Given the description of an element on the screen output the (x, y) to click on. 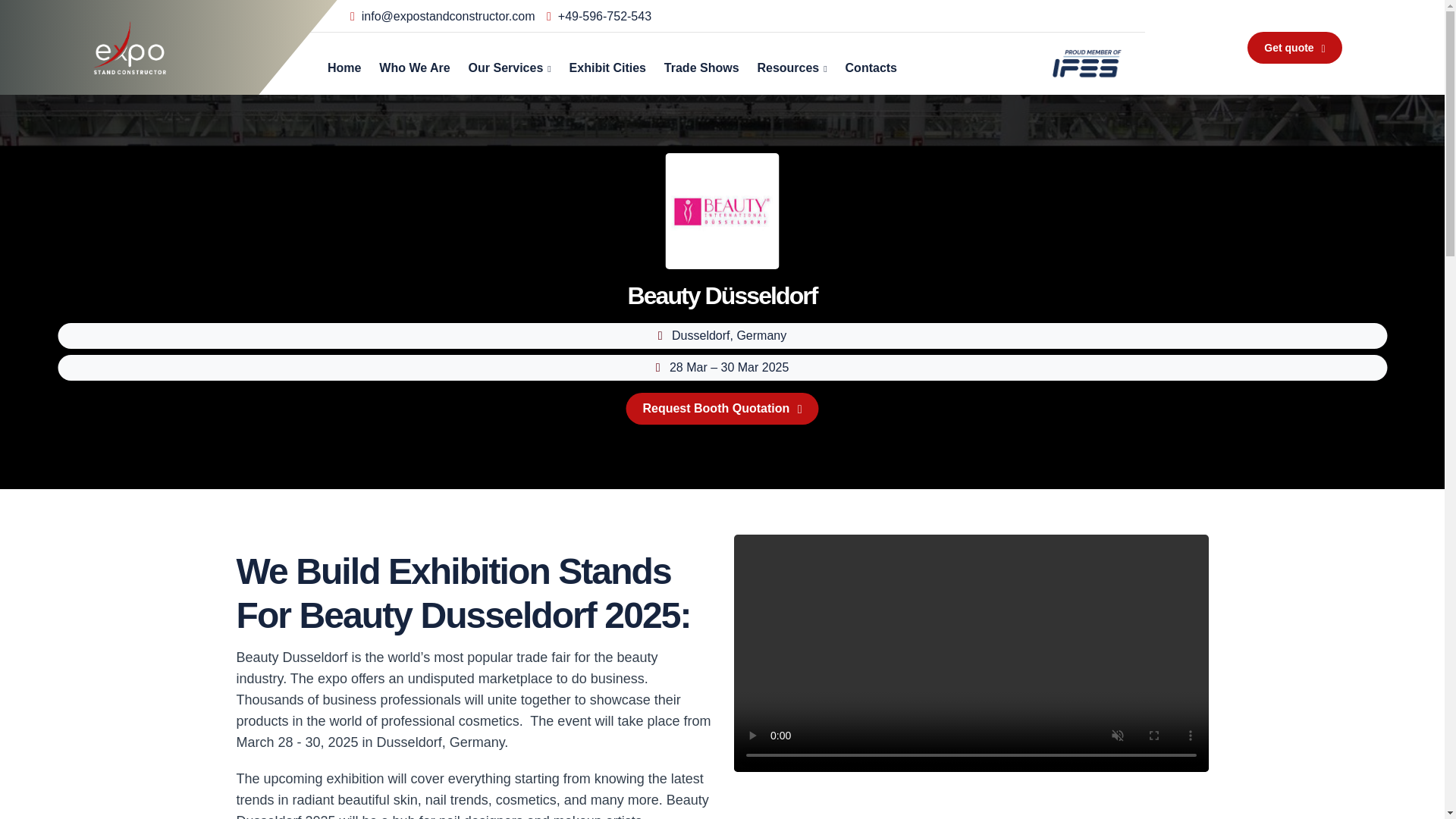
Our Services (509, 63)
Who We Are (413, 63)
Exhibit Cities (607, 63)
